Given the description of an element on the screen output the (x, y) to click on. 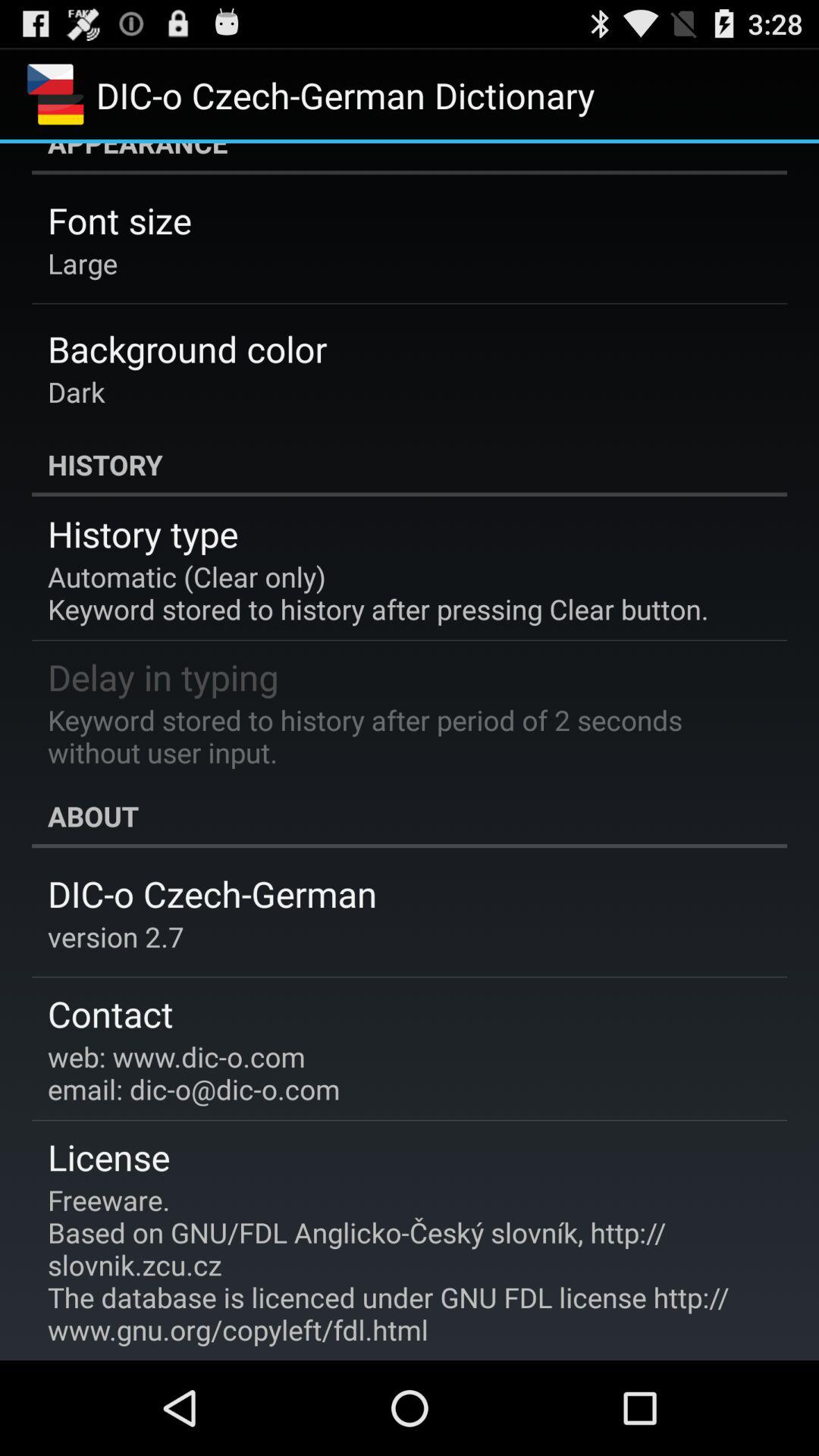
turn off app below keyword stored to item (409, 816)
